Given the description of an element on the screen output the (x, y) to click on. 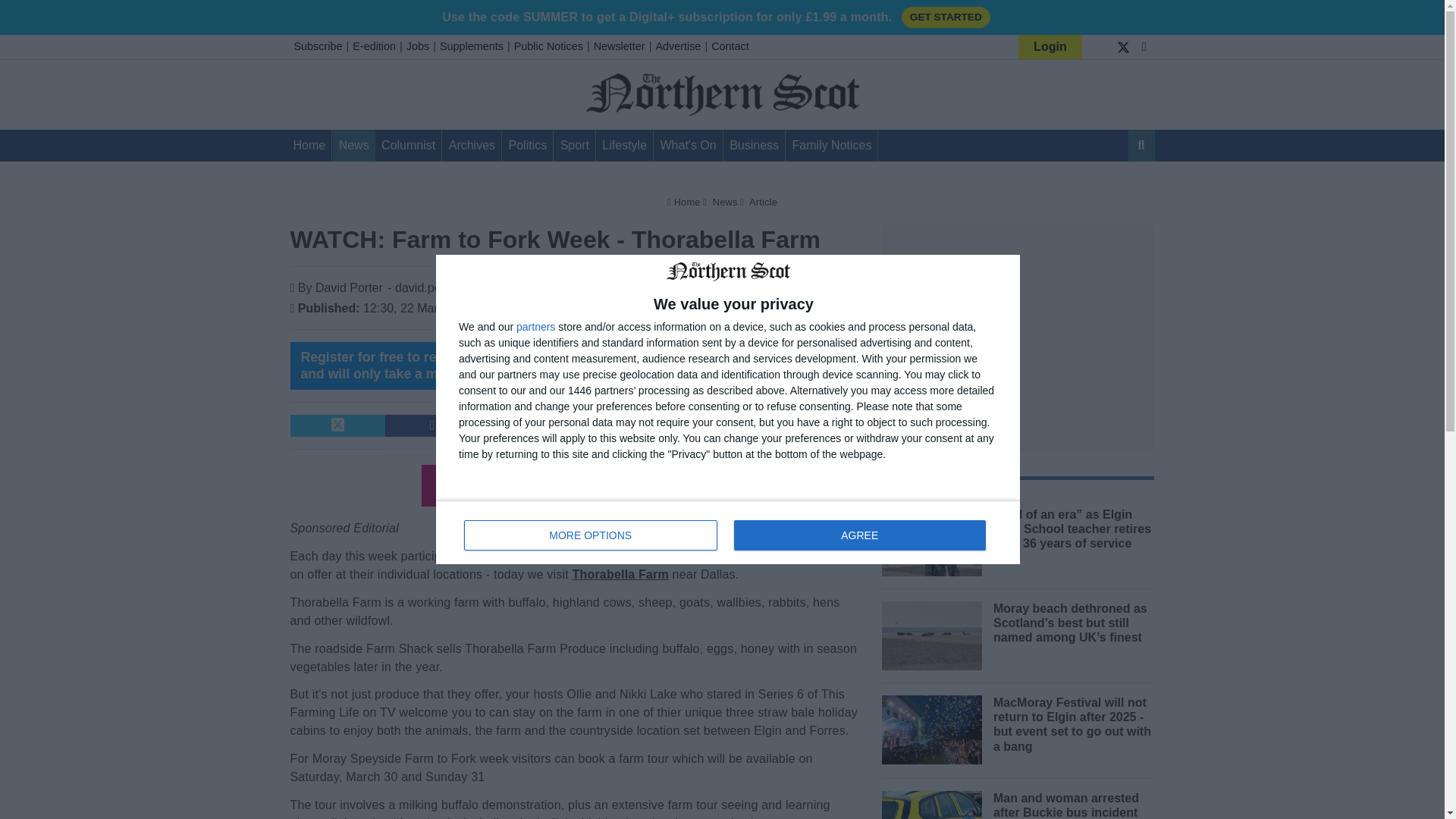
MORE OPTIONS (590, 535)
partners (535, 326)
GET STARTED (945, 16)
AGREE (727, 532)
